Given the description of an element on the screen output the (x, y) to click on. 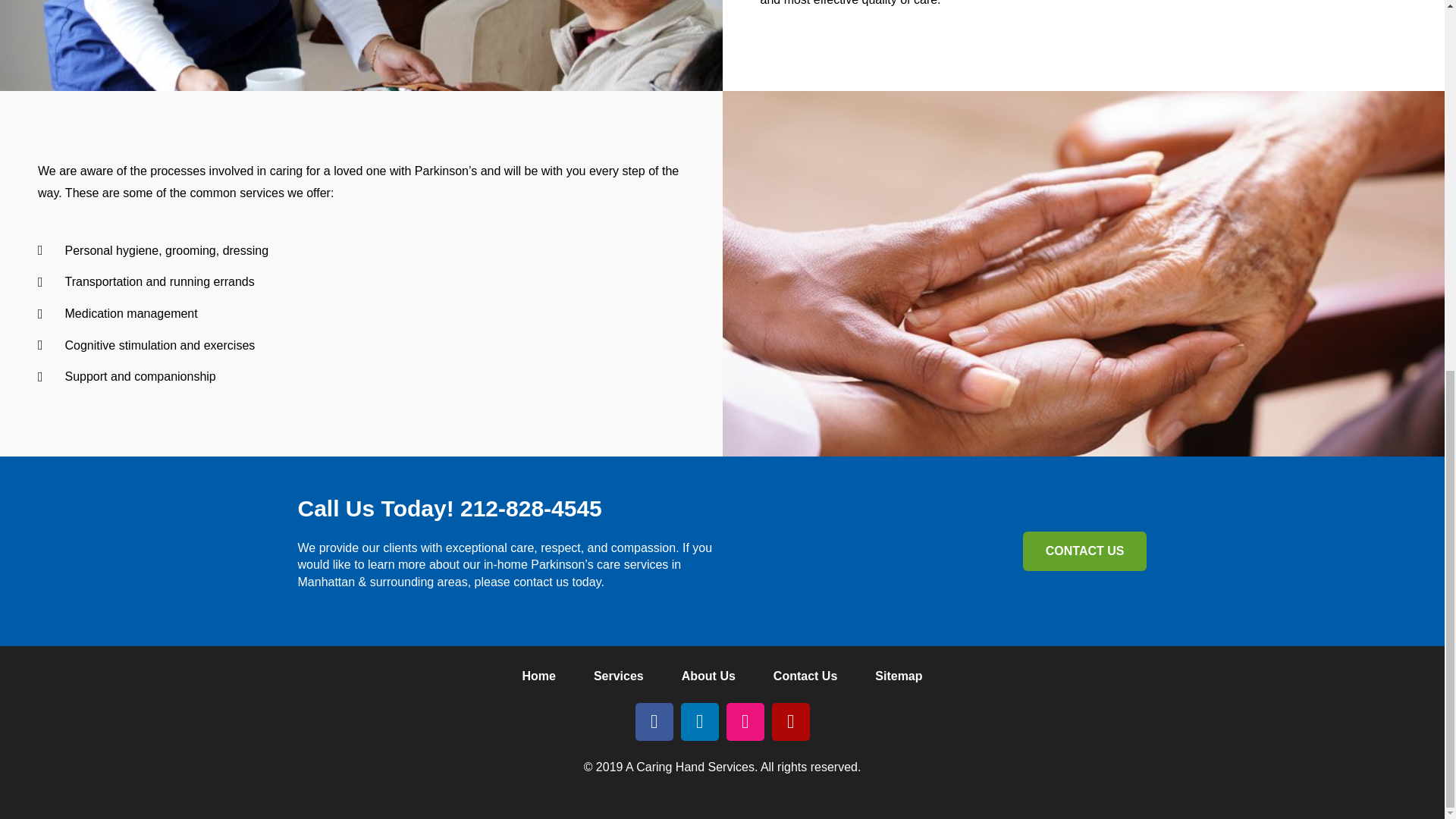
CONTACT US (1085, 550)
Call Us Today! 212-828-4545 (449, 508)
Linkedin (700, 721)
Contact Us (805, 676)
Instagram (745, 721)
Home (537, 676)
Sitemap (898, 676)
Services (618, 676)
Yelp (790, 721)
About Us (708, 676)
